Given the description of an element on the screen output the (x, y) to click on. 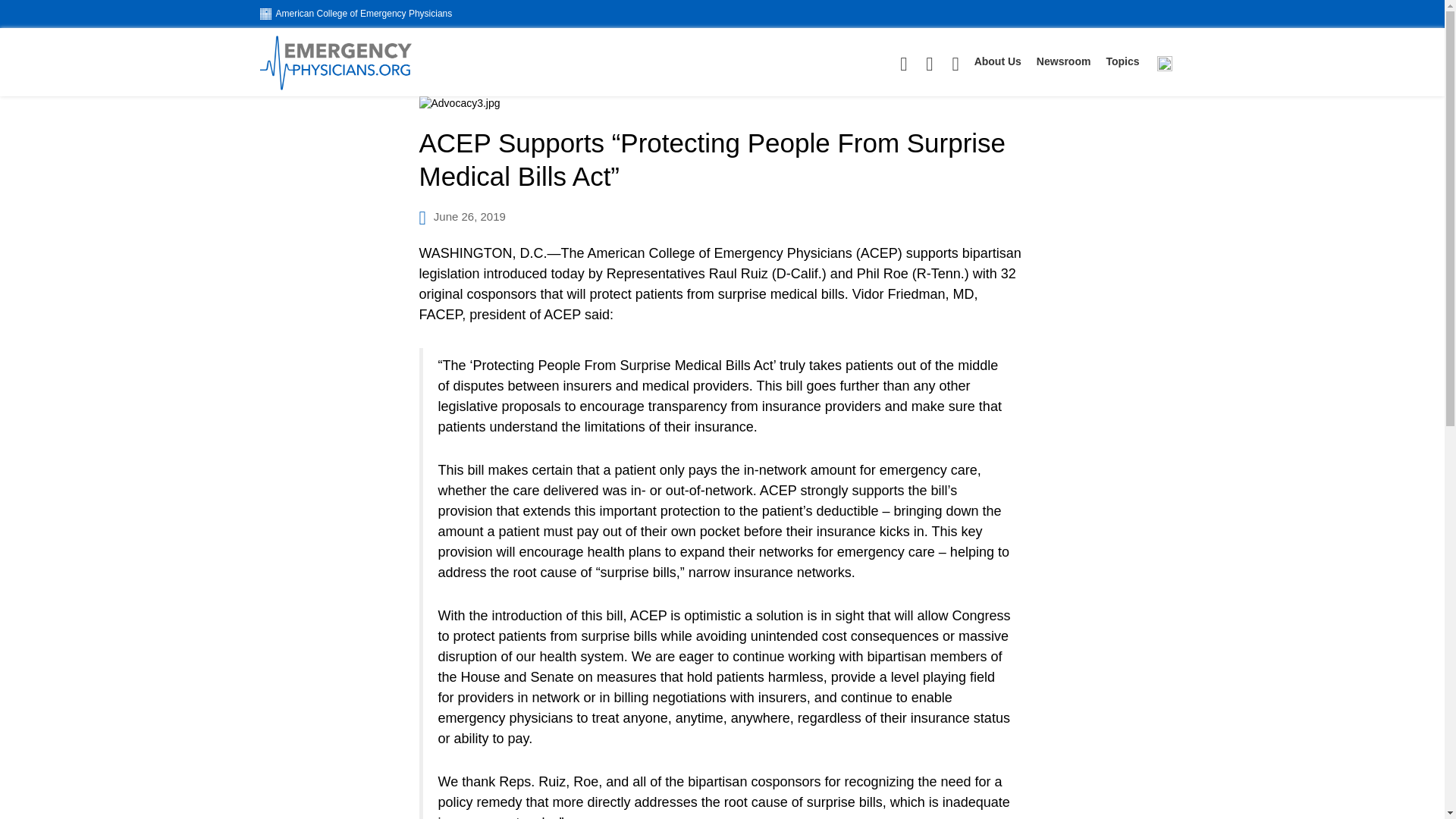
Newsroom (1063, 61)
About Us (998, 61)
American College of Emergency Physicians (355, 13)
ACEP.org (355, 13)
Topics (1121, 61)
Advocacy3.jpg (722, 103)
